Given the description of an element on the screen output the (x, y) to click on. 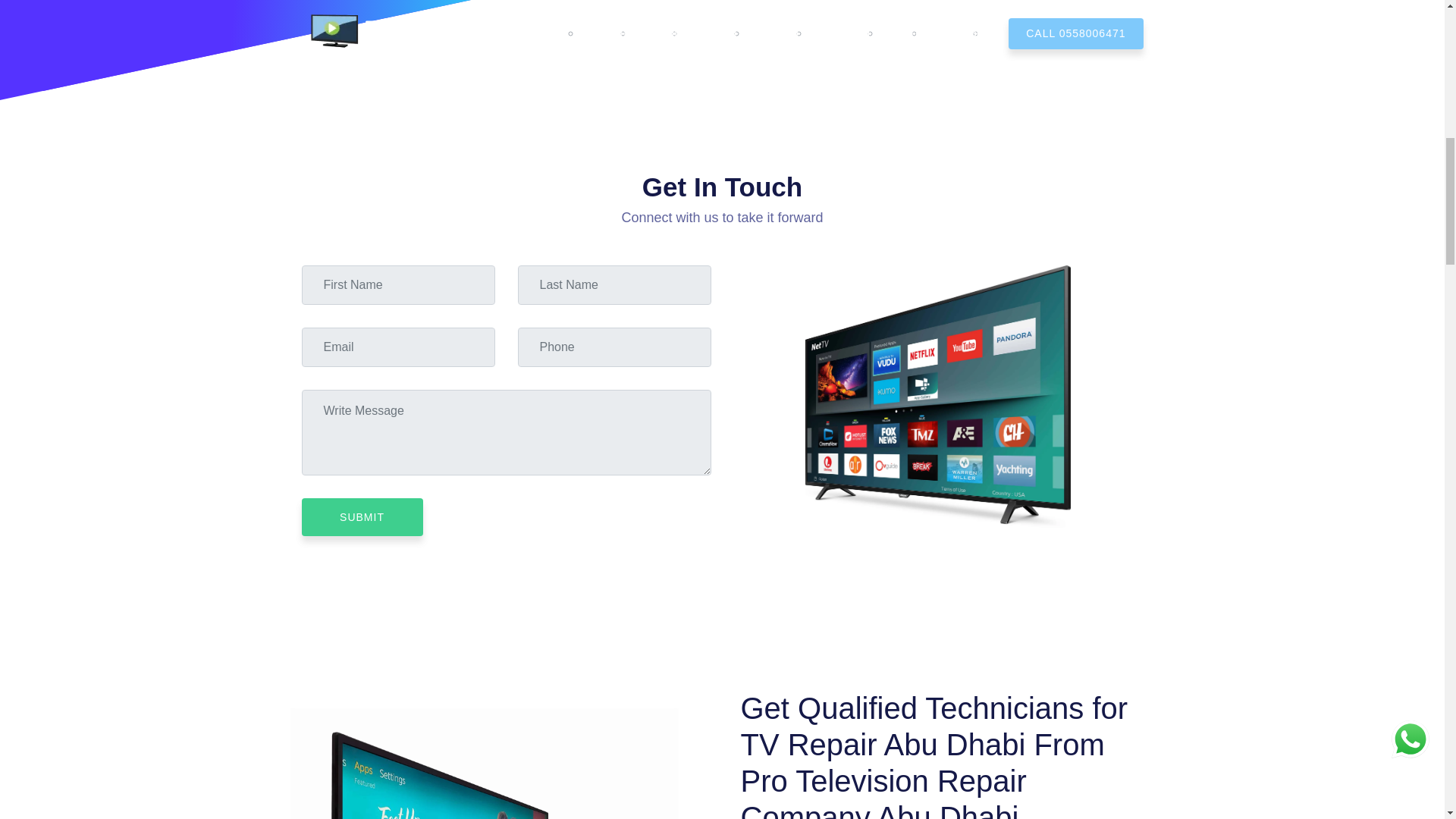
SUBMIT (362, 516)
